Given the description of an element on the screen output the (x, y) to click on. 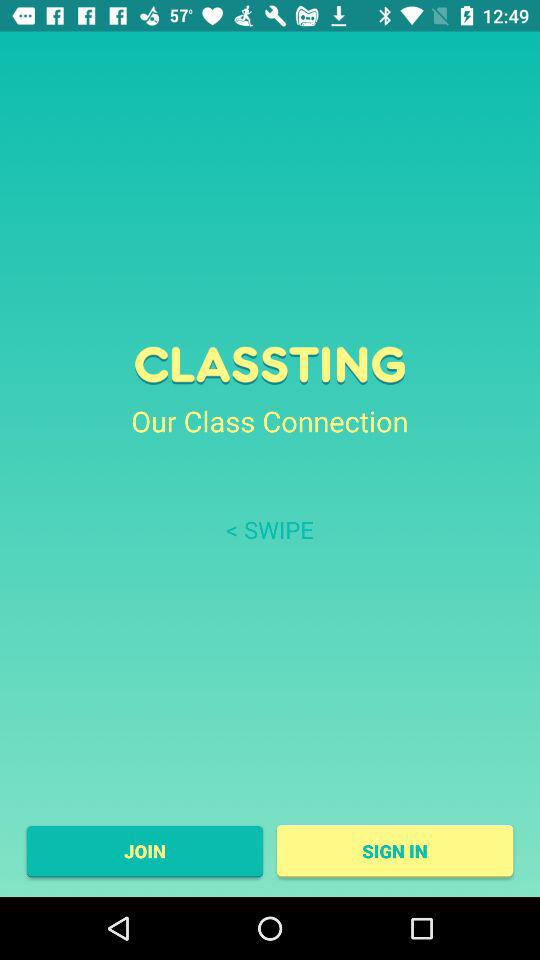
flip until the sign in icon (394, 851)
